Given the description of an element on the screen output the (x, y) to click on. 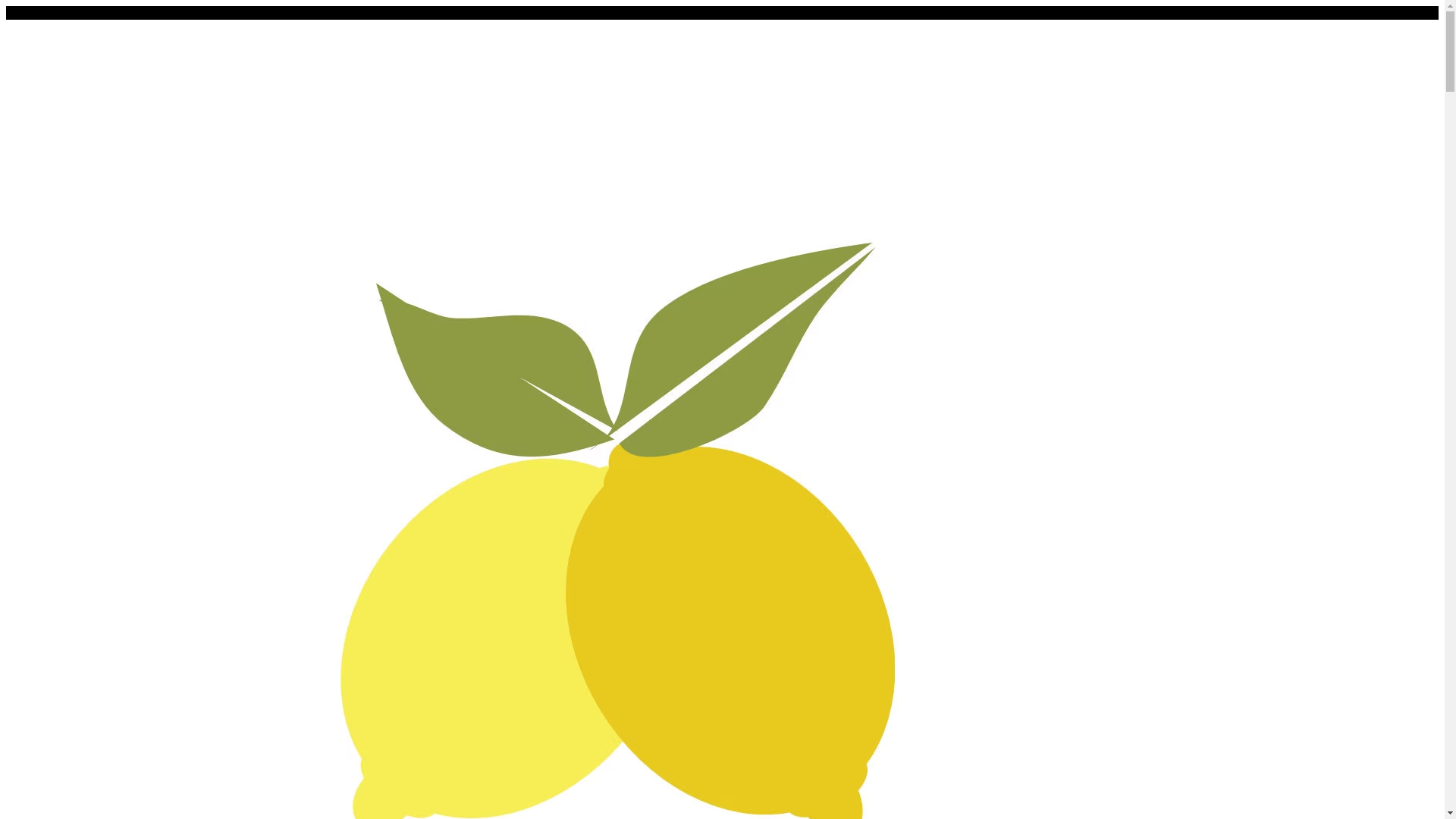
Find more from Lemons Plus Life at our Online Boutique! (148, 11)
